Given the description of an element on the screen output the (x, y) to click on. 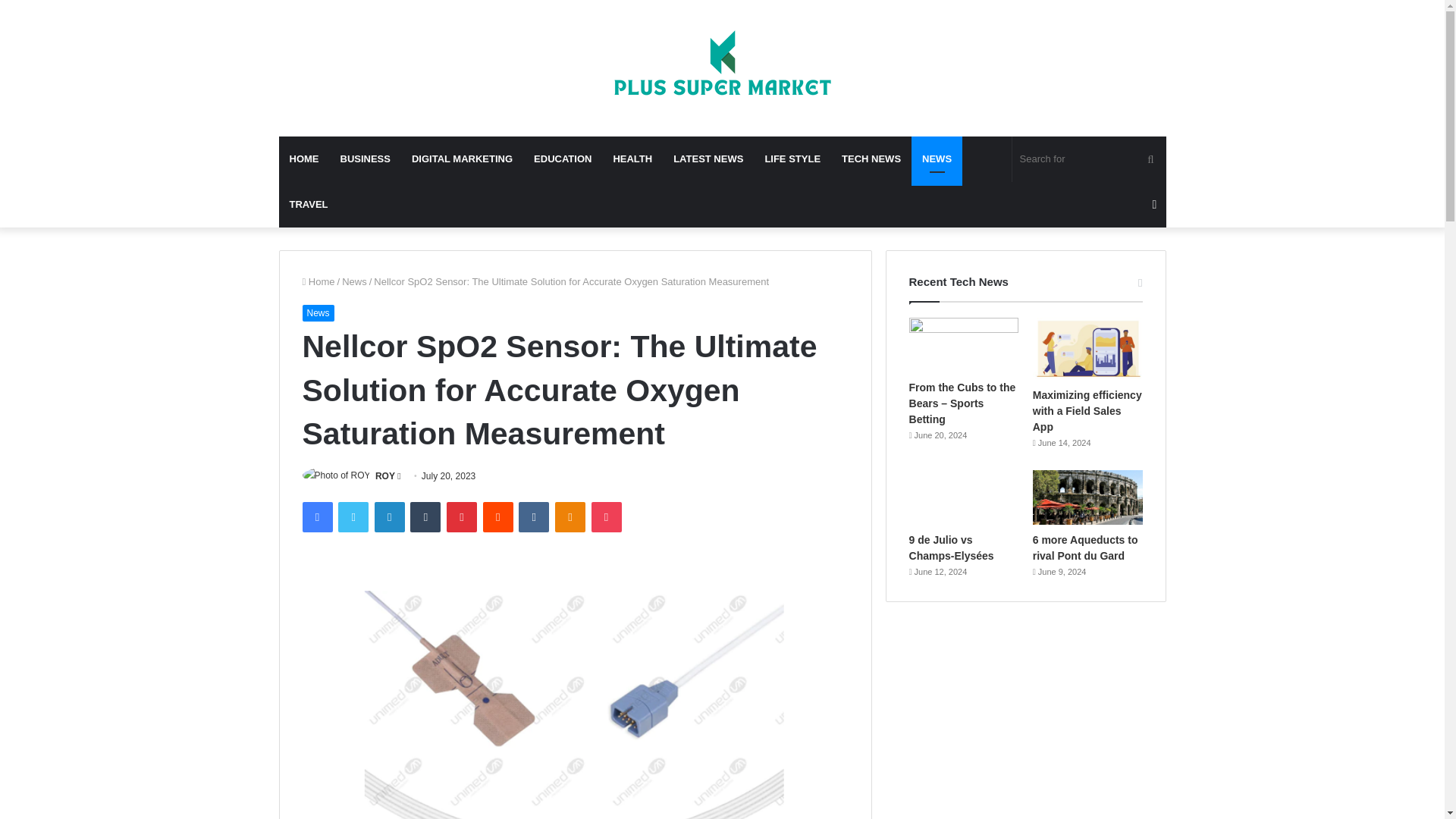
News (317, 312)
My Blog (721, 68)
DIGITAL MARKETING (461, 158)
LinkedIn (389, 517)
HOME (304, 158)
Reddit (498, 517)
Odnoklassniki (569, 517)
Facebook (316, 517)
EDUCATION (562, 158)
TECH NEWS (871, 158)
